Given the description of an element on the screen output the (x, y) to click on. 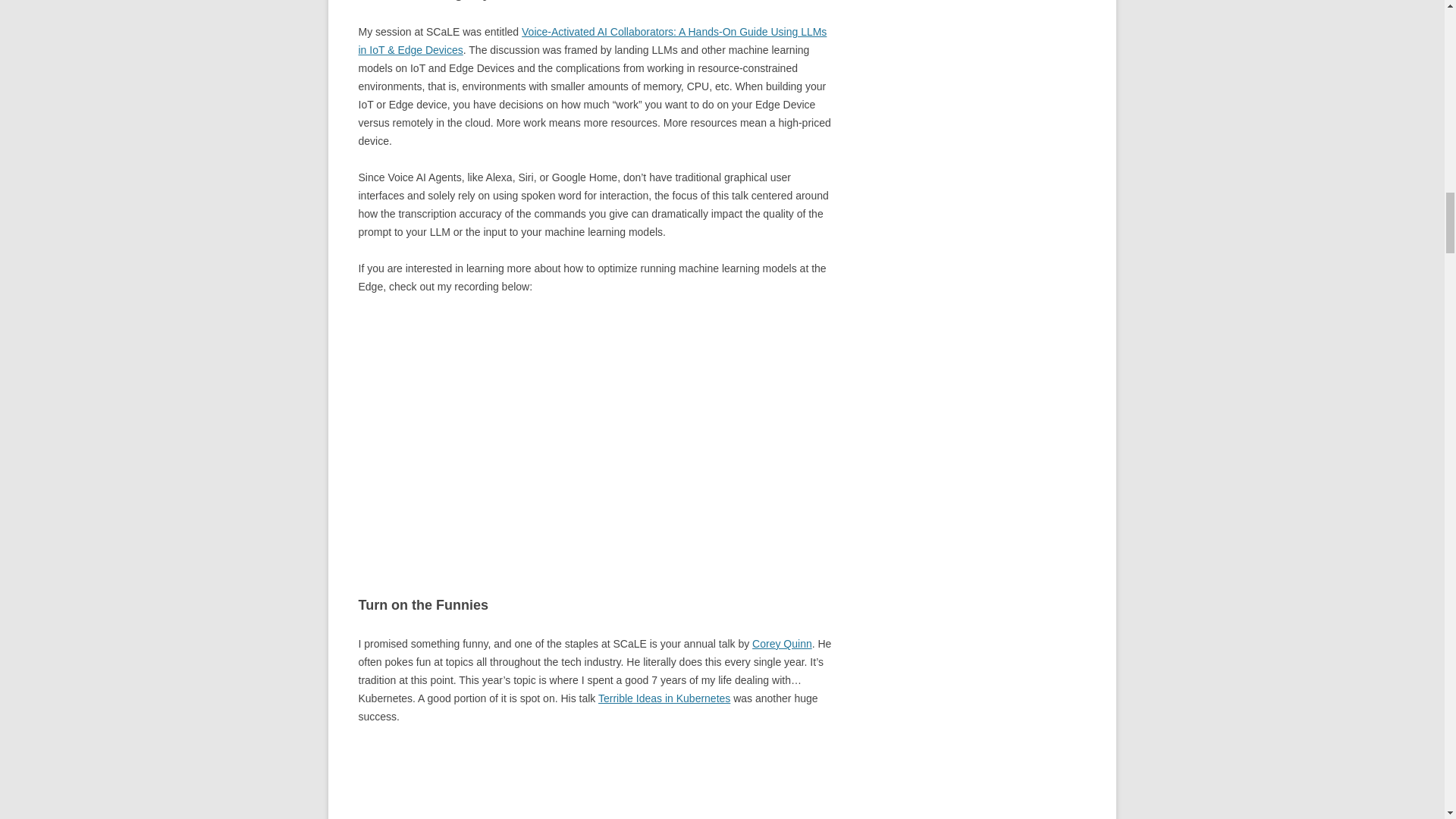
YouTube video player (570, 781)
YouTube video player (570, 432)
Terrible Ideas in Kubernetes (664, 698)
Corey Quinn (782, 644)
